Given the description of an element on the screen output the (x, y) to click on. 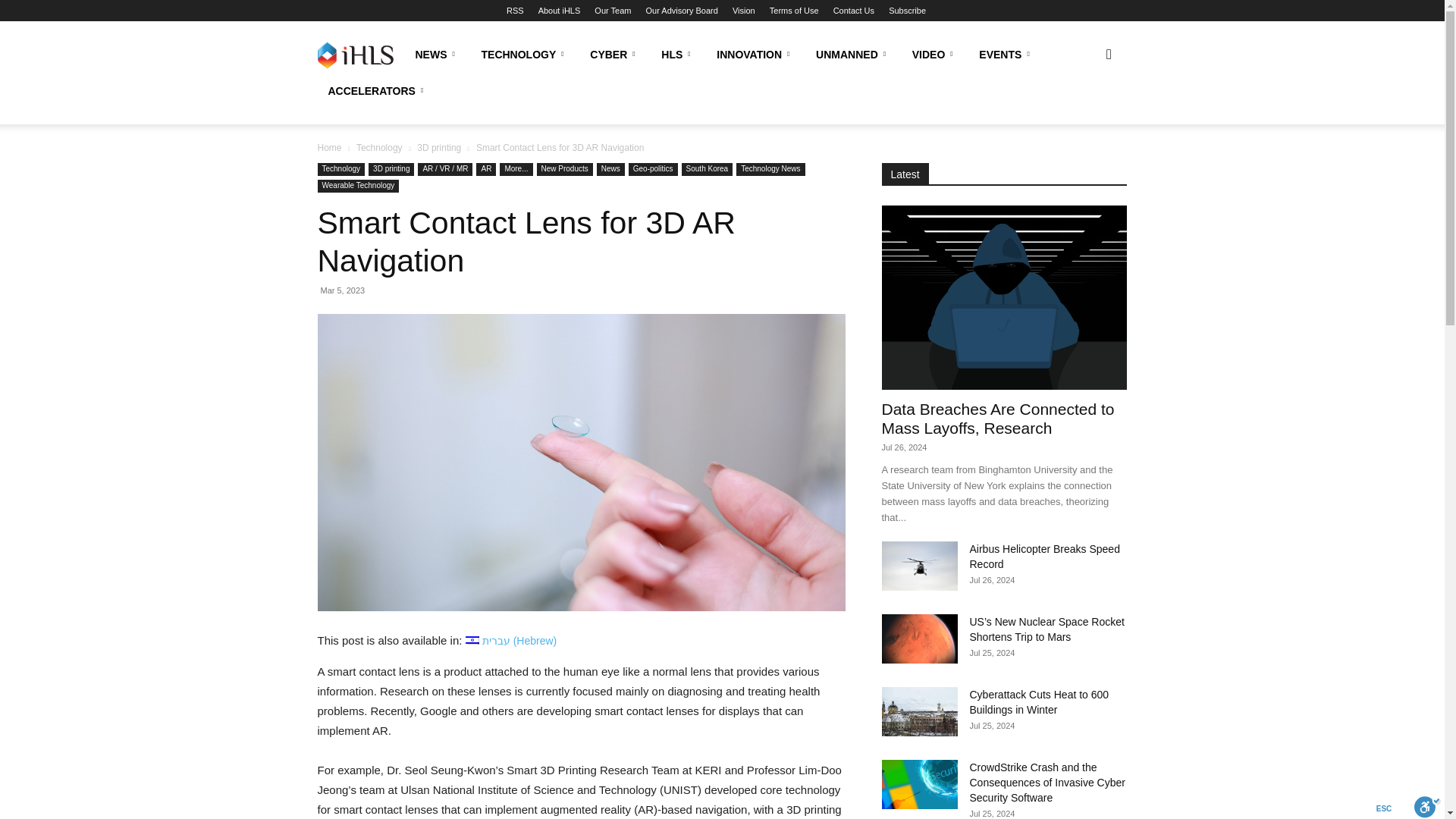
Data Breaches Are Connected to Mass Layoffs, Research (1003, 297)
View all posts in 3D printing (438, 147)
View all posts in Technology (379, 147)
Data Breaches Are Connected to Mass Layoffs, Research (996, 418)
Airbus Helicopter Breaks Speed Record (918, 565)
